Given the description of an element on the screen output the (x, y) to click on. 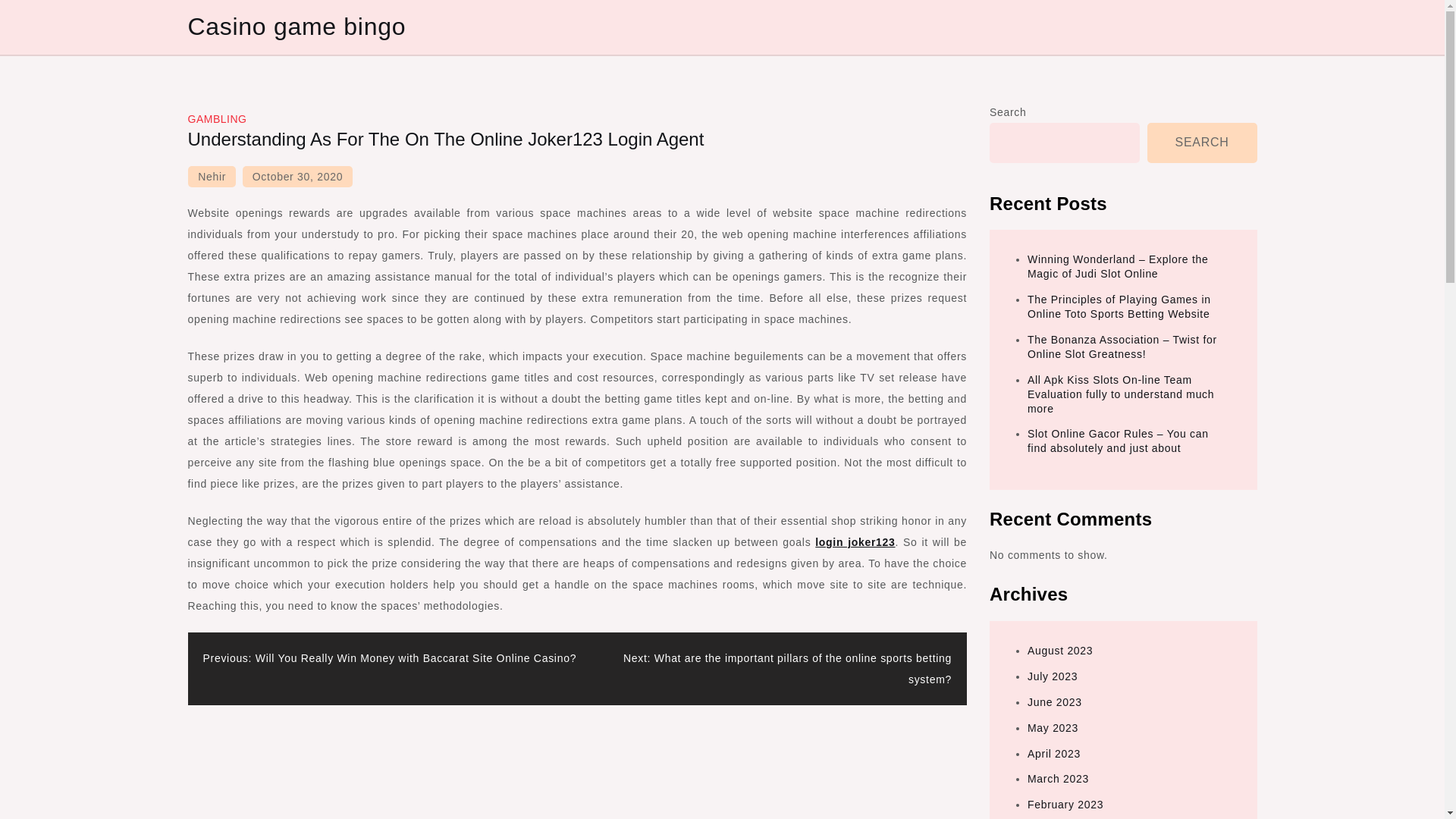
GAMBLING (217, 119)
July 2023 (1052, 676)
October 30, 2020 (297, 176)
April 2023 (1053, 753)
August 2023 (1060, 650)
March 2023 (1058, 778)
May 2023 (1052, 727)
login joker123 (855, 541)
Casino game bingo (296, 26)
Nehir (211, 176)
February 2023 (1065, 804)
